Given the description of an element on the screen output the (x, y) to click on. 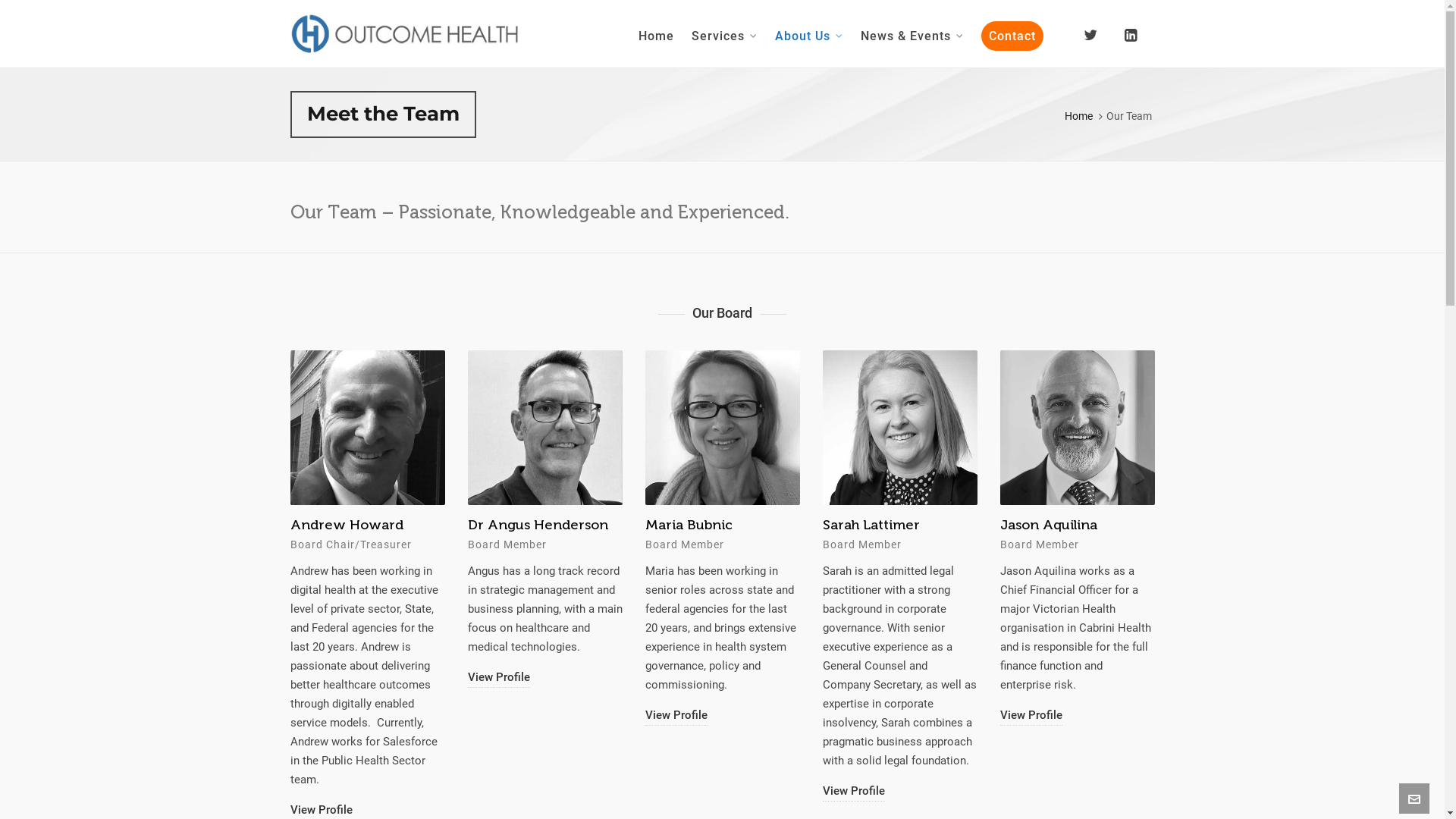
Andrew Howard Element type: text (523, 524)
About Us Element type: text (808, 34)
Maria Bubnic Element type: text (865, 524)
View Profile Element type: text (675, 677)
View Profile Element type: text (320, 771)
Sarah Lattimer Element type: text (1047, 524)
Dr Nuwan Dharmaratne Element type: text (333, 533)
View Profile Element type: text (1030, 791)
News & Events Element type: text (912, 34)
03 8822 8444 Element type: text (797, 676)
Contact Element type: text (1011, 34)
Contact Element type: text (1137, 799)
Services Element type: text (724, 34)
Home Element type: text (1078, 115)
Powered by W3 Productions. Element type: text (505, 799)
View Profile Element type: text (853, 715)
Home Element type: text (656, 34)
Dr Angus Henderson Element type: text (714, 524)
Home Element type: text (1025, 799)
Privacy Policy Element type: text (1080, 799)
